Given the description of an element on the screen output the (x, y) to click on. 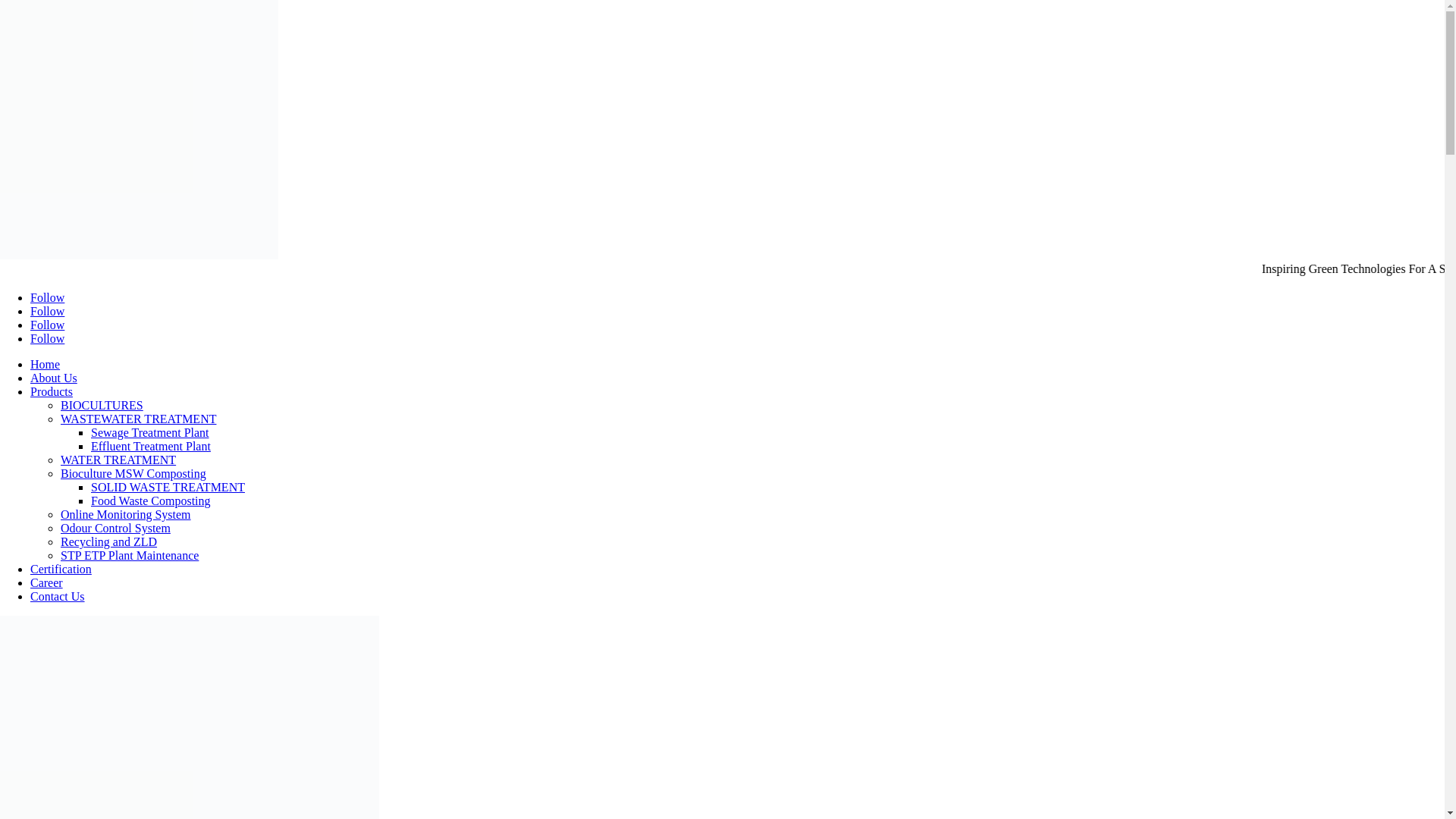
WATER TREATMENT (118, 459)
Odour Control System (115, 527)
About Us (53, 377)
Follow (47, 310)
Follow (47, 297)
Follow (47, 324)
WASTEWATER TREATMENT (138, 418)
Career (46, 582)
Sewage Treatment Plant (149, 431)
Follow on Facebook (47, 297)
Bioculture MSW Composting (133, 472)
Certification (60, 568)
SOLID WASTE TREATMENT (167, 486)
Effluent Treatment Plant (150, 445)
Follow on Twitter (47, 310)
